Given the description of an element on the screen output the (x, y) to click on. 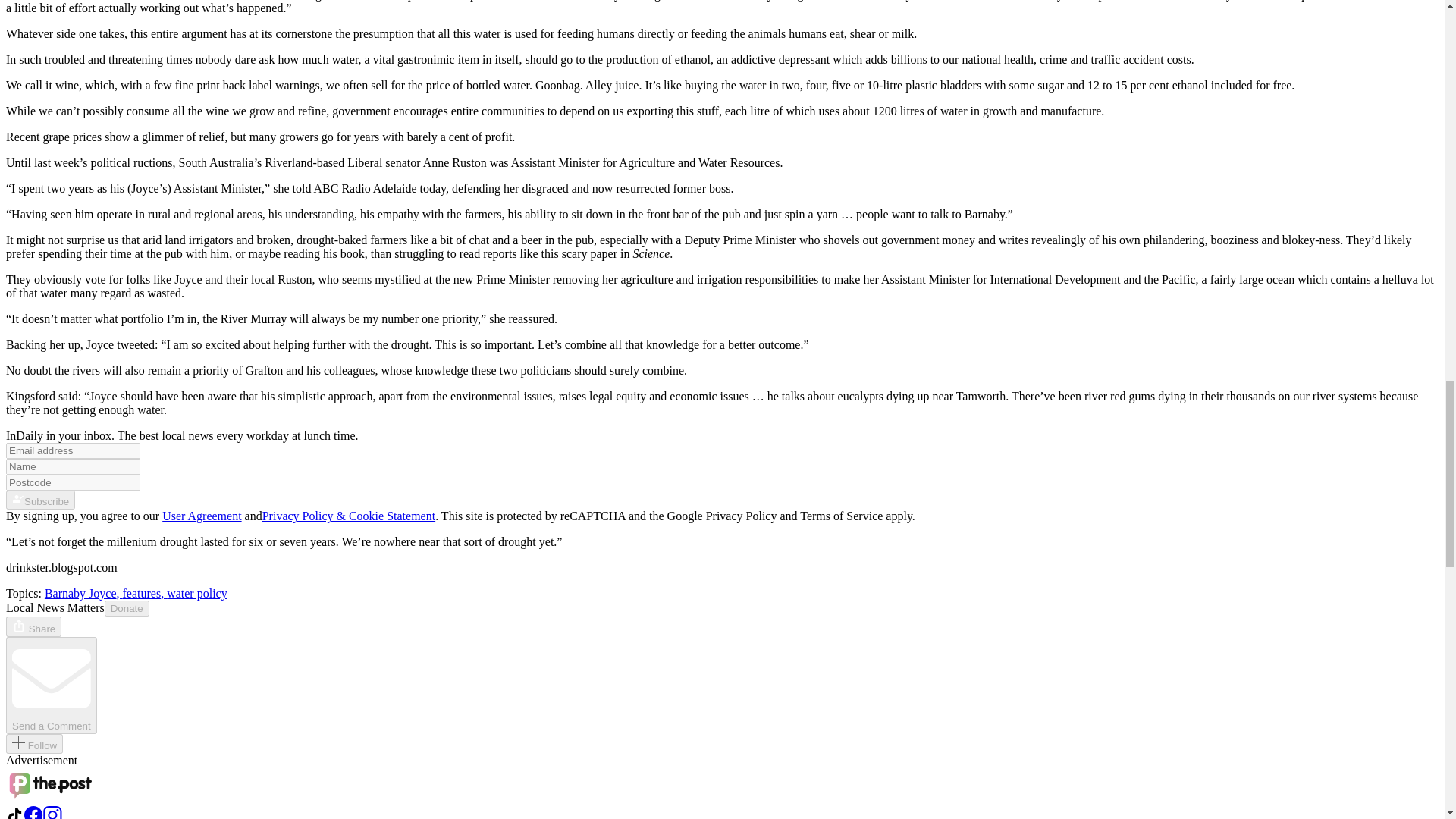
Subscribe (40, 499)
Barnaby Joyce, (83, 593)
User Agreement (201, 515)
water policy (197, 593)
Donate (126, 607)
features, (144, 593)
